Given the description of an element on the screen output the (x, y) to click on. 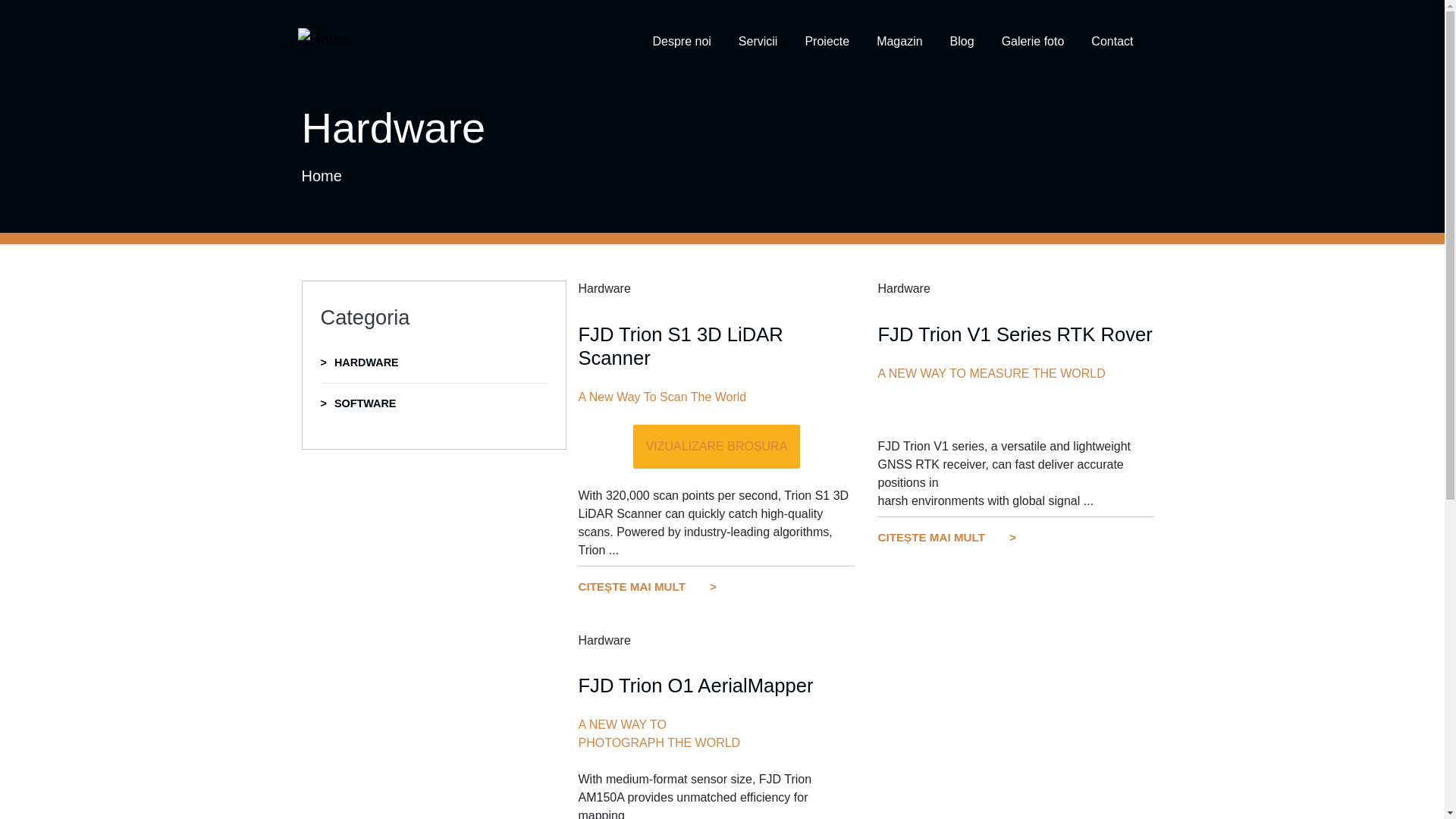
Proiecte (826, 40)
Blog (961, 40)
FJD Trion O1 AerialMapper (695, 685)
Galerie foto (1032, 40)
Magazin (899, 40)
SOFTWARE (433, 404)
FJD Trion V1 Series RTK Rover (1014, 333)
Home (323, 39)
Despre noi (681, 40)
Servicii (758, 40)
